Given the description of an element on the screen output the (x, y) to click on. 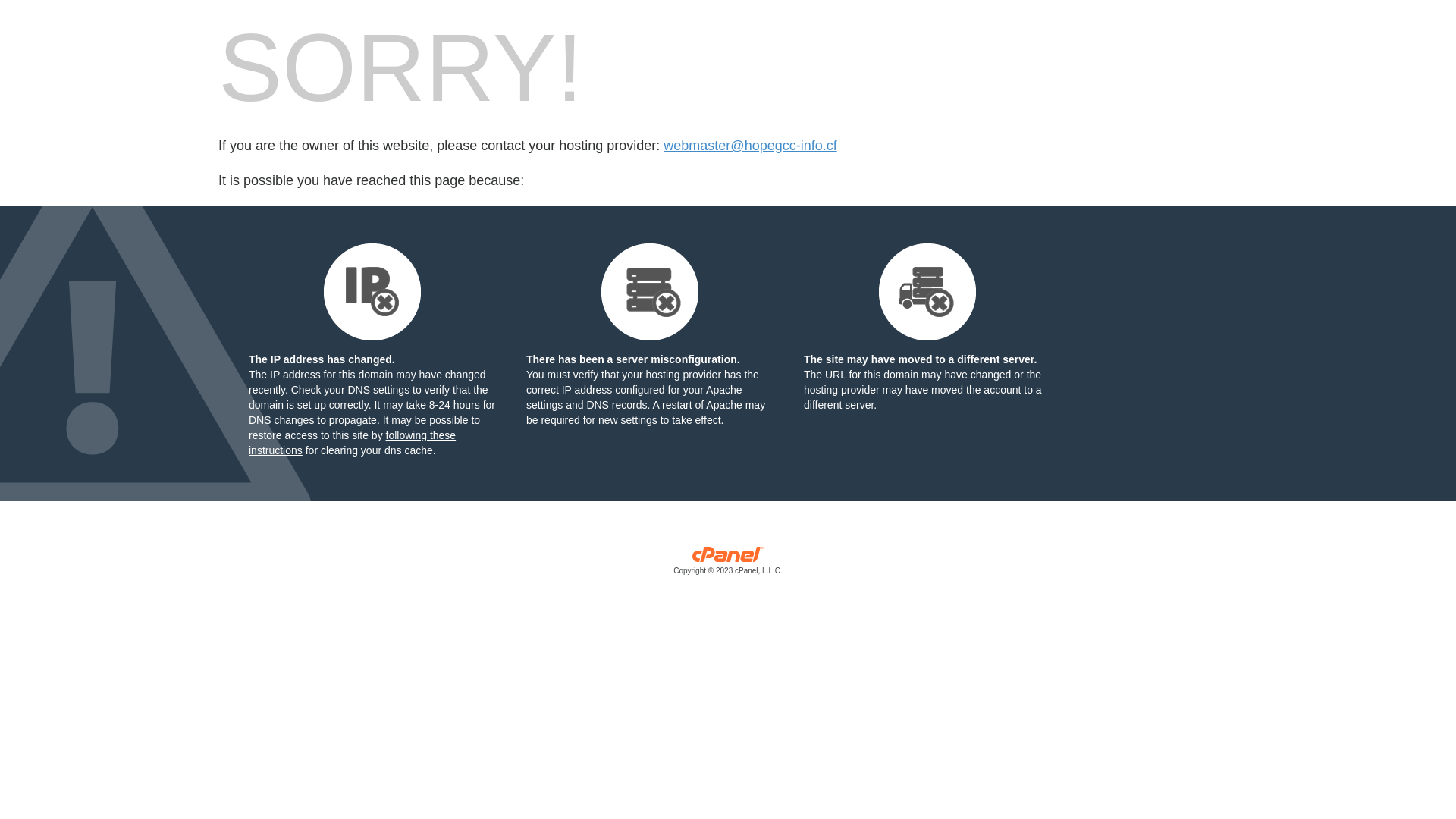
following these instructions Element type: text (351, 442)
webmaster@hopegcc-info.cf Element type: text (749, 145)
